Given the description of an element on the screen output the (x, y) to click on. 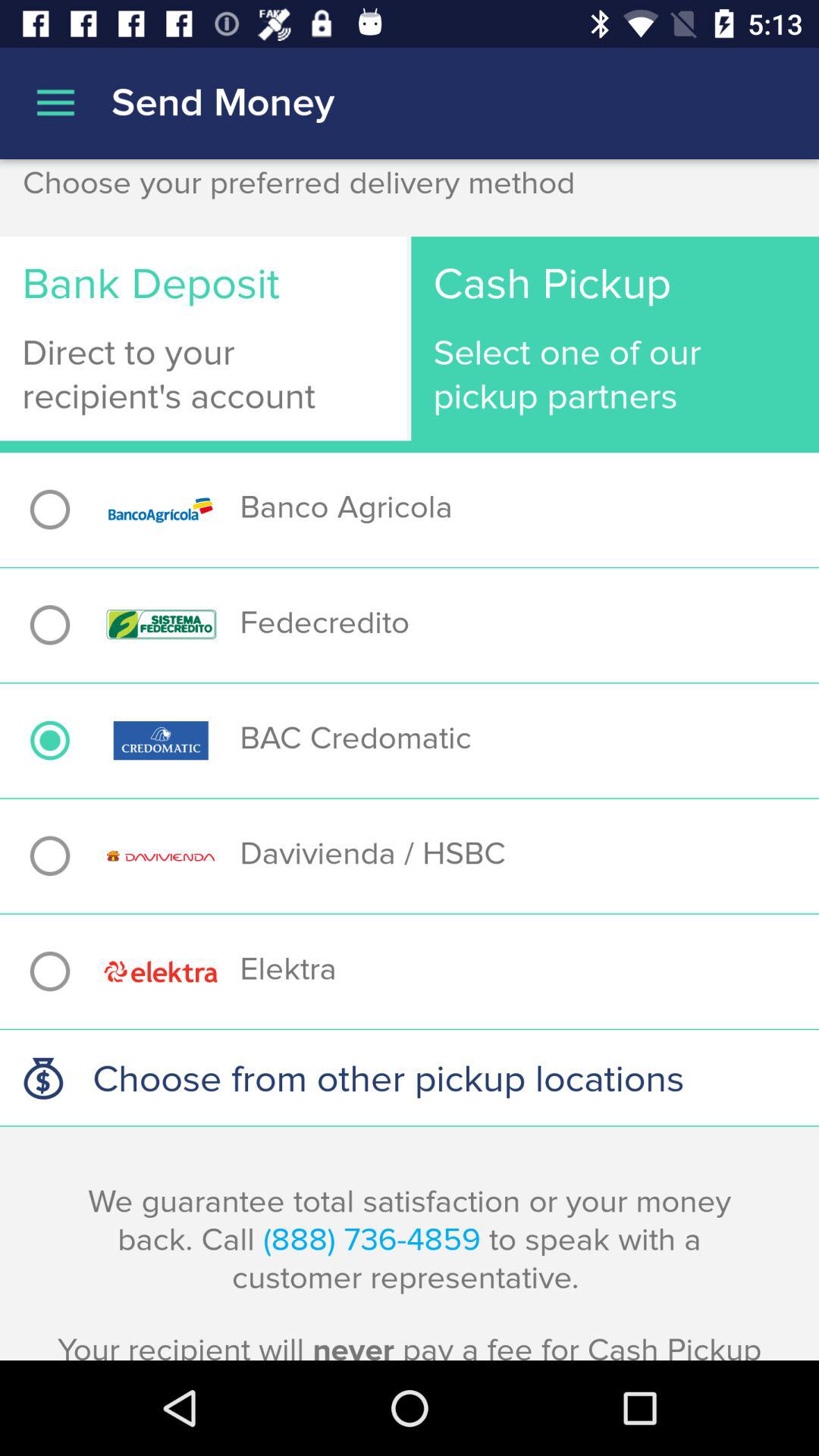
launch the item above choose your preferred item (55, 103)
